Given the description of an element on the screen output the (x, y) to click on. 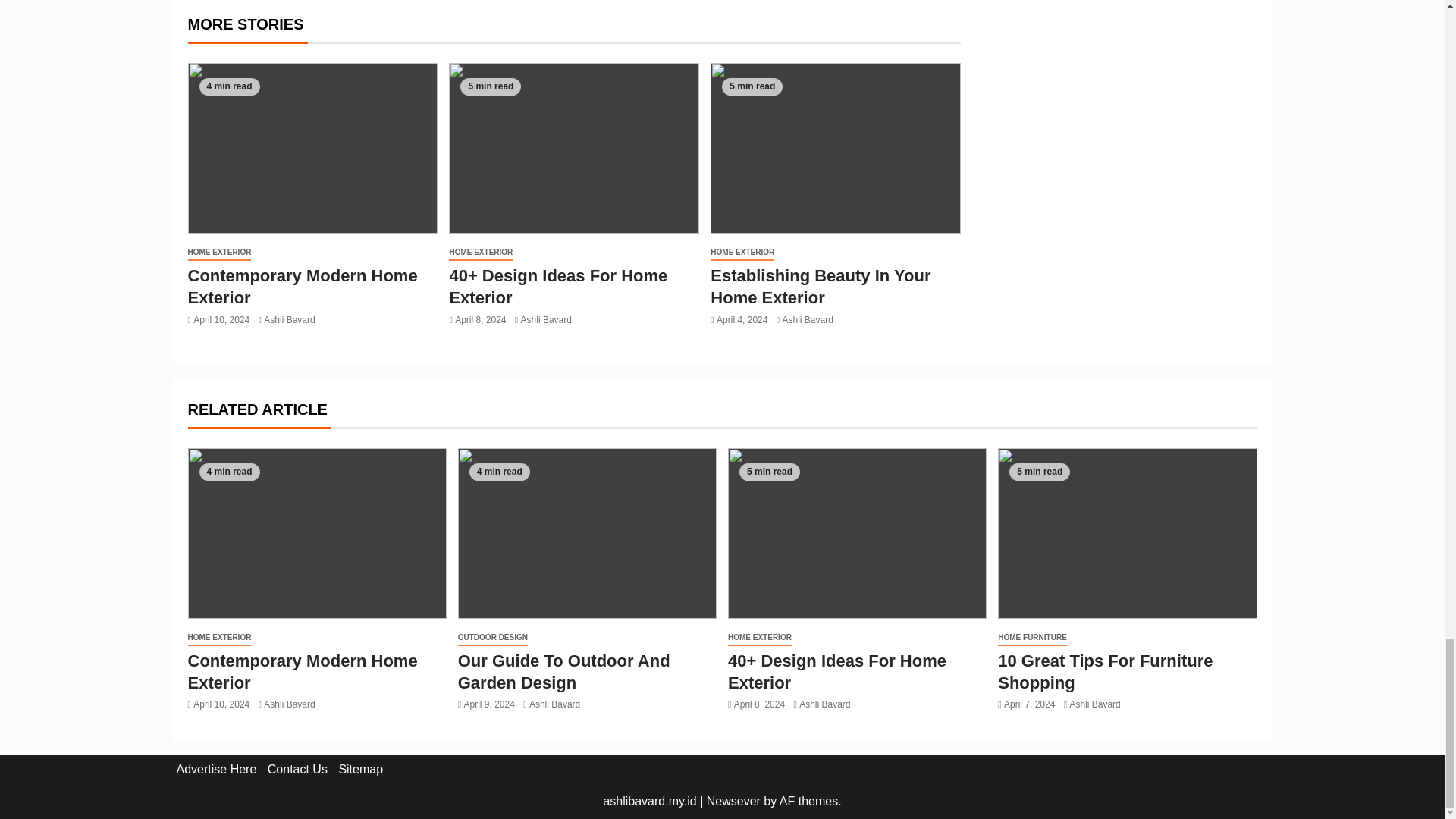
Ashli Bavard (546, 318)
Ashli Bavard (806, 318)
Contemporary Modern Home Exterior (302, 286)
Establishing Beauty In Your Home Exterior (820, 286)
HOME EXTERIOR (742, 252)
Ashli Bavard (288, 318)
HOME EXTERIOR (480, 252)
HOME EXTERIOR (219, 252)
